Given the description of an element on the screen output the (x, y) to click on. 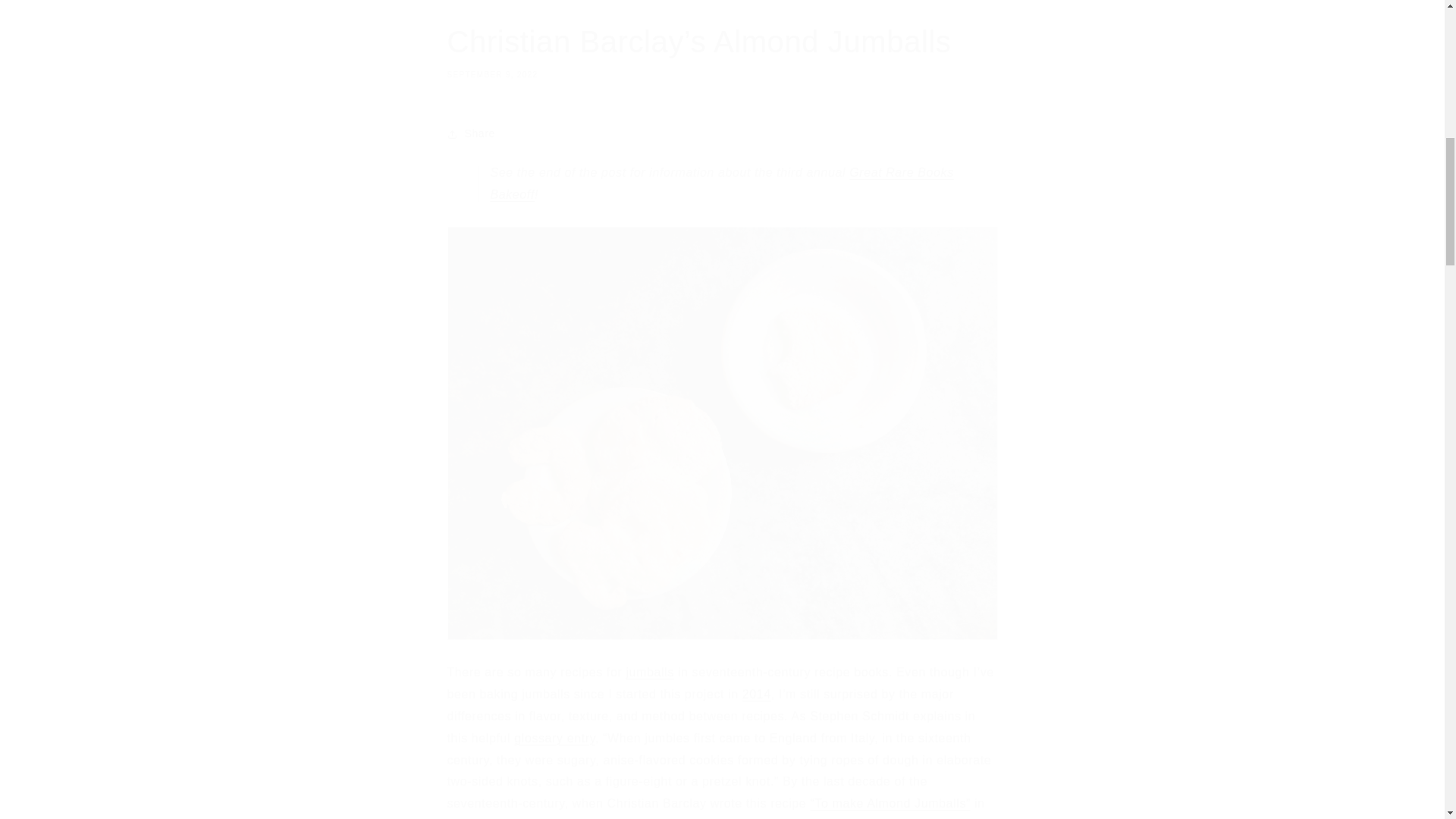
Great Rare Books Bakeoff (721, 183)
Share (721, 133)
2014 (756, 694)
jumballs (650, 671)
glossary entry (554, 738)
